Given the description of an element on the screen output the (x, y) to click on. 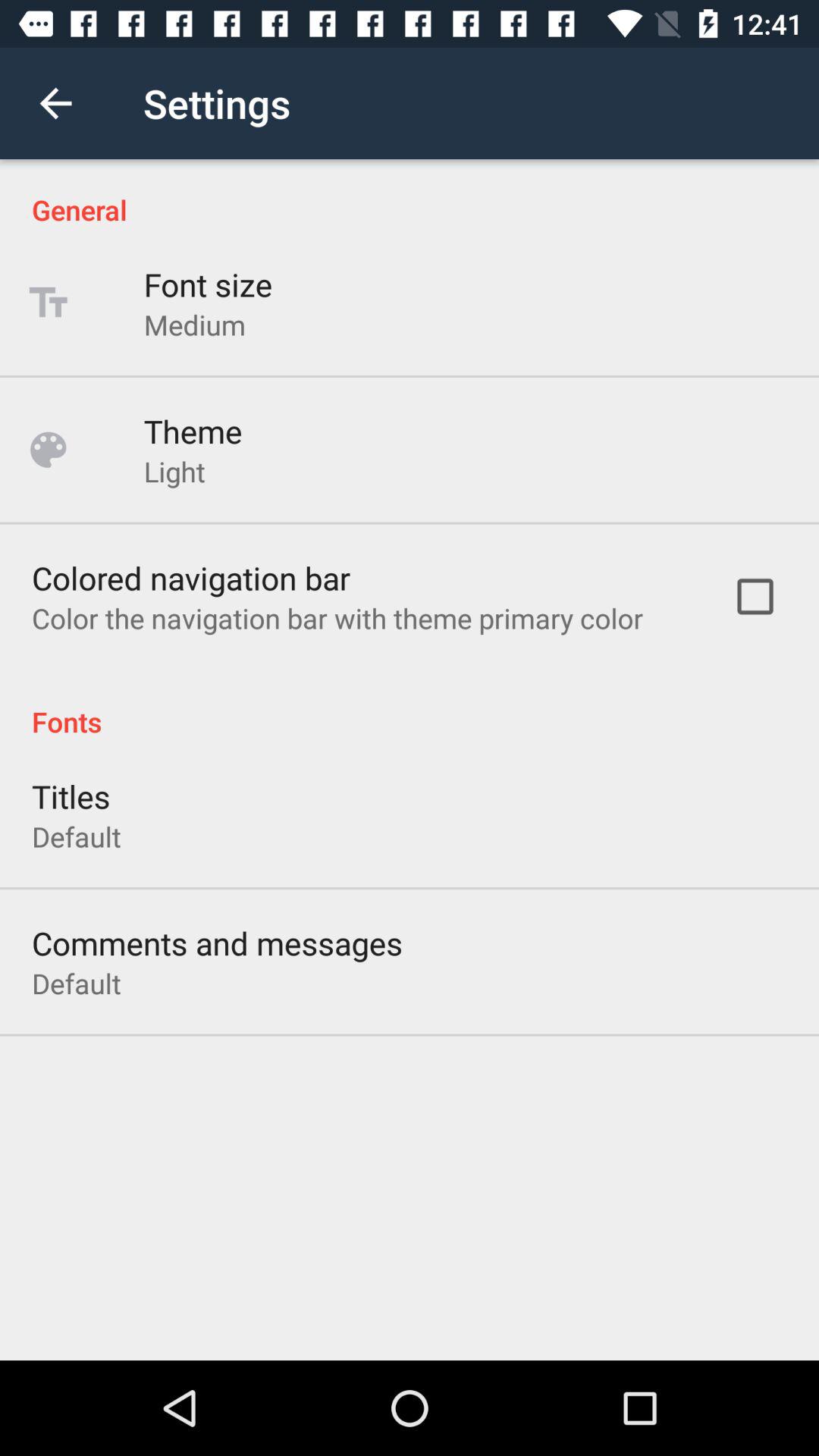
choose the item next to color the navigation (755, 596)
